Given the description of an element on the screen output the (x, y) to click on. 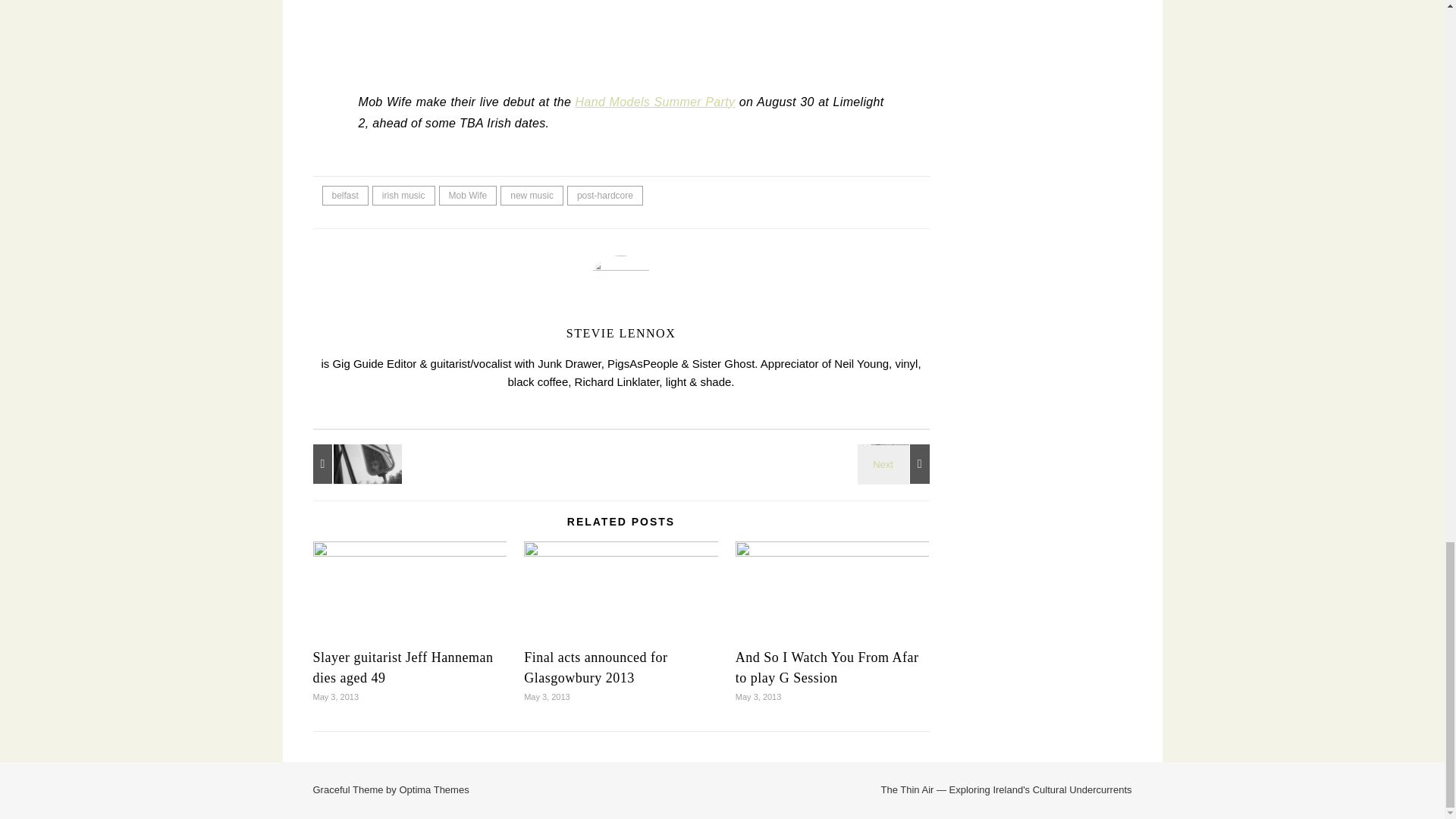
Pull Focus: The Lonely Battle of Thomas Reid (895, 464)
Posts by Stevie Lennox (620, 332)
Pull Focus: The Image You Missed (346, 464)
